Given the description of an element on the screen output the (x, y) to click on. 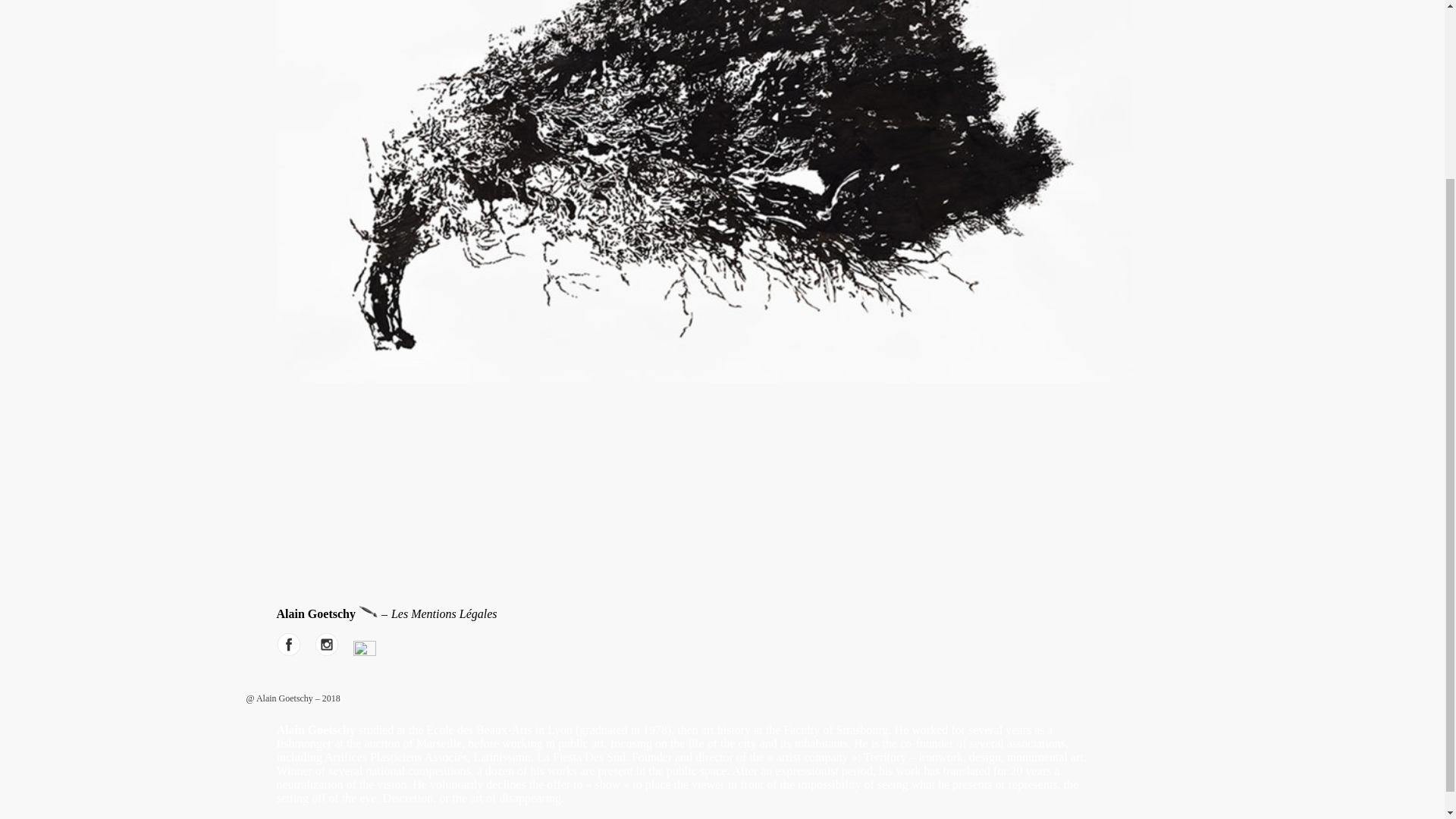
Alain Goetschy (368, 611)
